Given the description of an element on the screen output the (x, y) to click on. 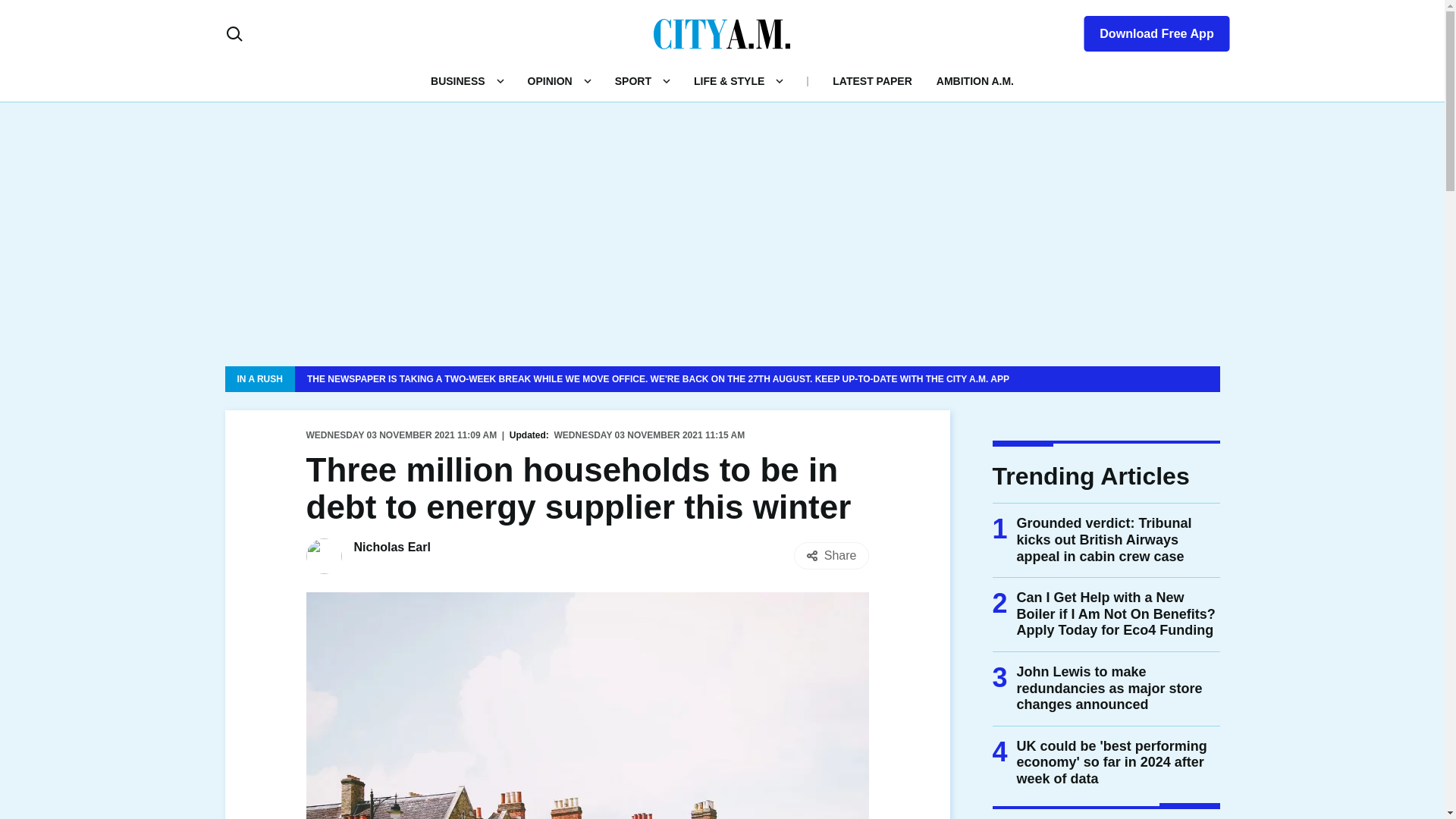
SPORT (632, 80)
OPINION (549, 80)
Download Free App (1146, 30)
BUSINESS (457, 80)
CityAM (721, 33)
